Given the description of an element on the screen output the (x, y) to click on. 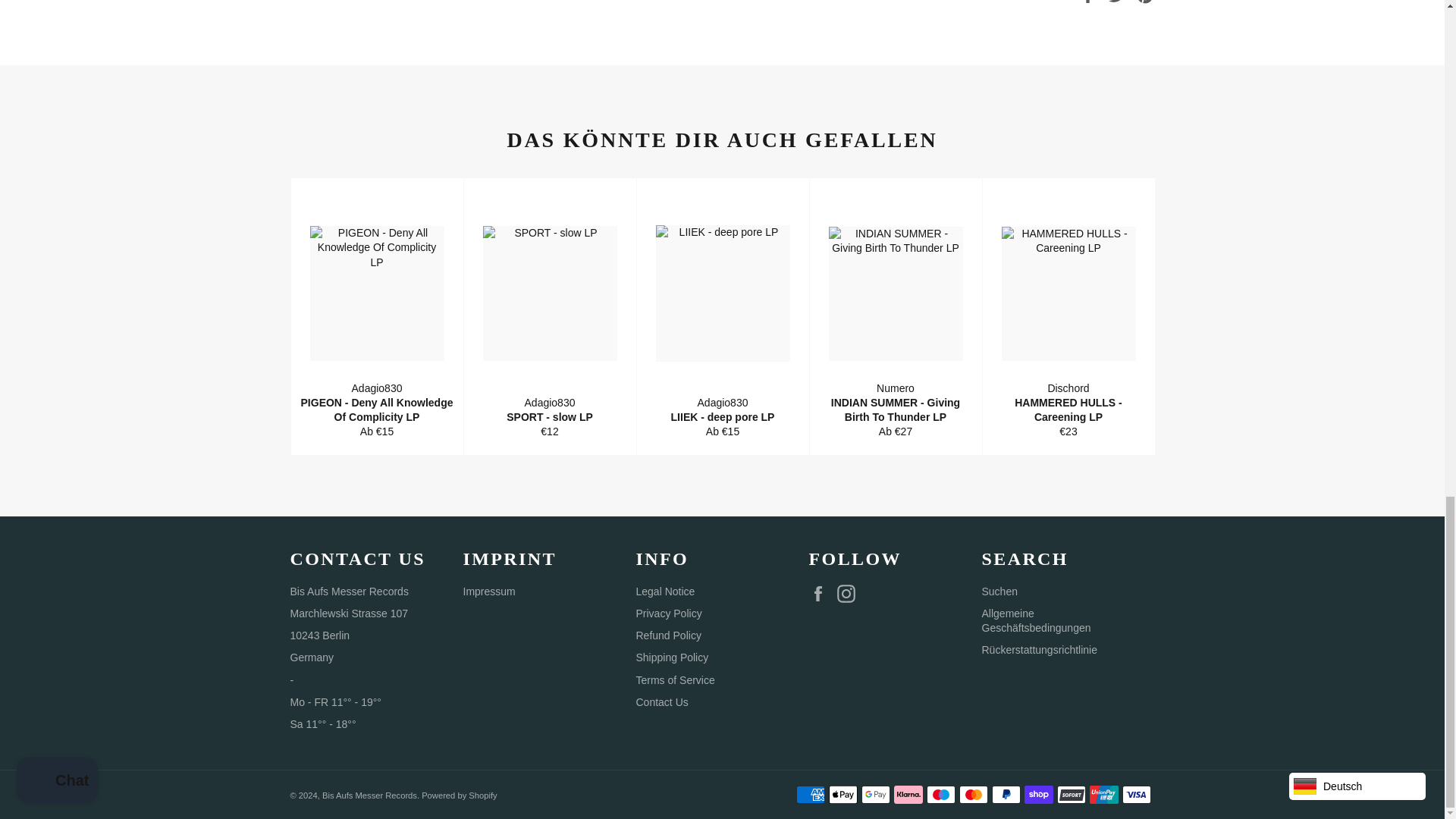
Bis Aufs Messer Records auf Facebook (821, 593)
Bis Aufs Messer Records auf Instagram (850, 593)
